Given the description of an element on the screen output the (x, y) to click on. 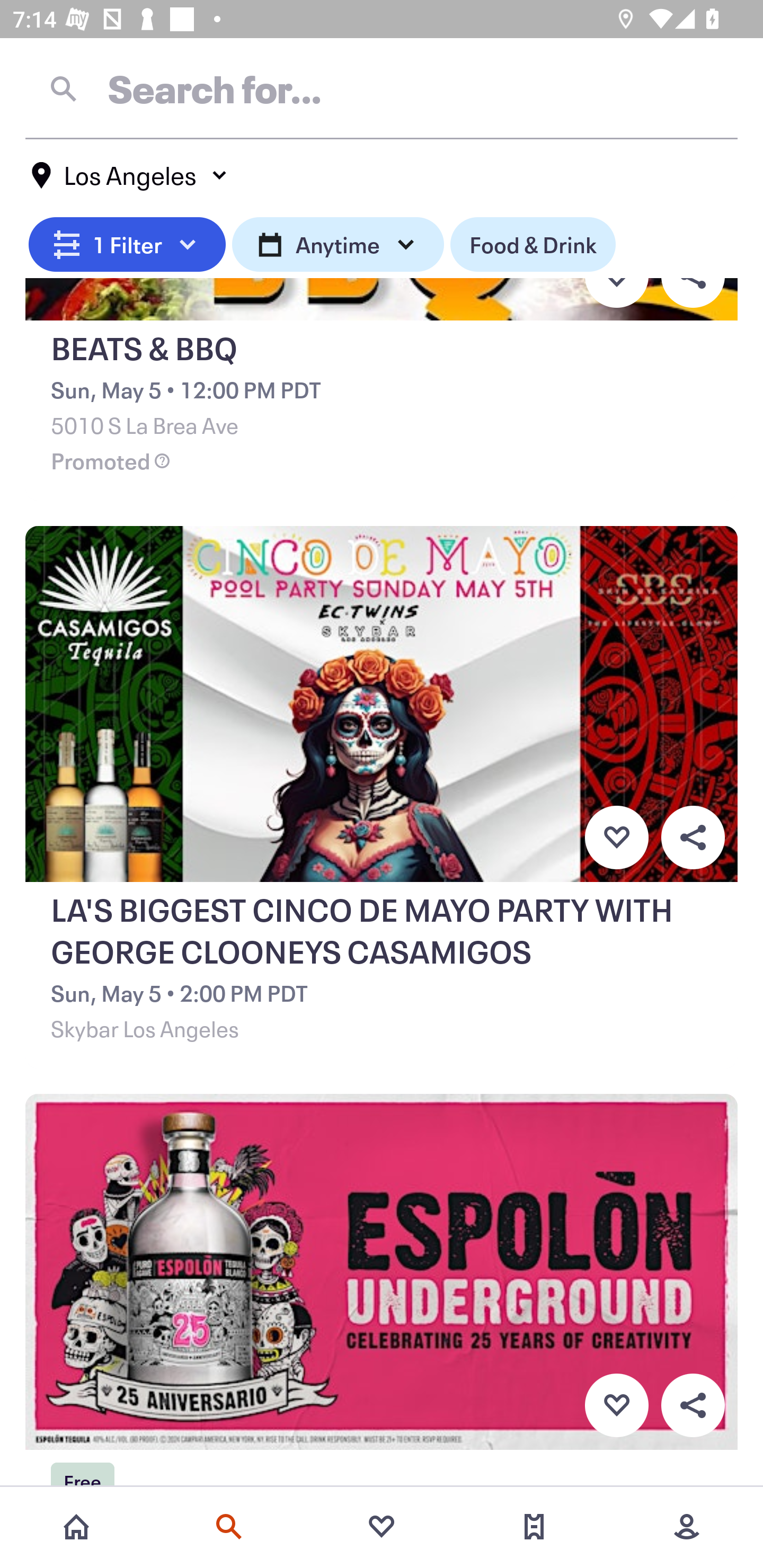
Search for… (381, 88)
Los Angeles (130, 175)
Favorite button (616, 836)
Overflow menu button (692, 836)
Favorite button (616, 1405)
Overflow menu button (692, 1405)
Home (76, 1526)
Search events (228, 1526)
Favorites (381, 1526)
Tickets (533, 1526)
More (686, 1526)
